Given the description of an element on the screen output the (x, y) to click on. 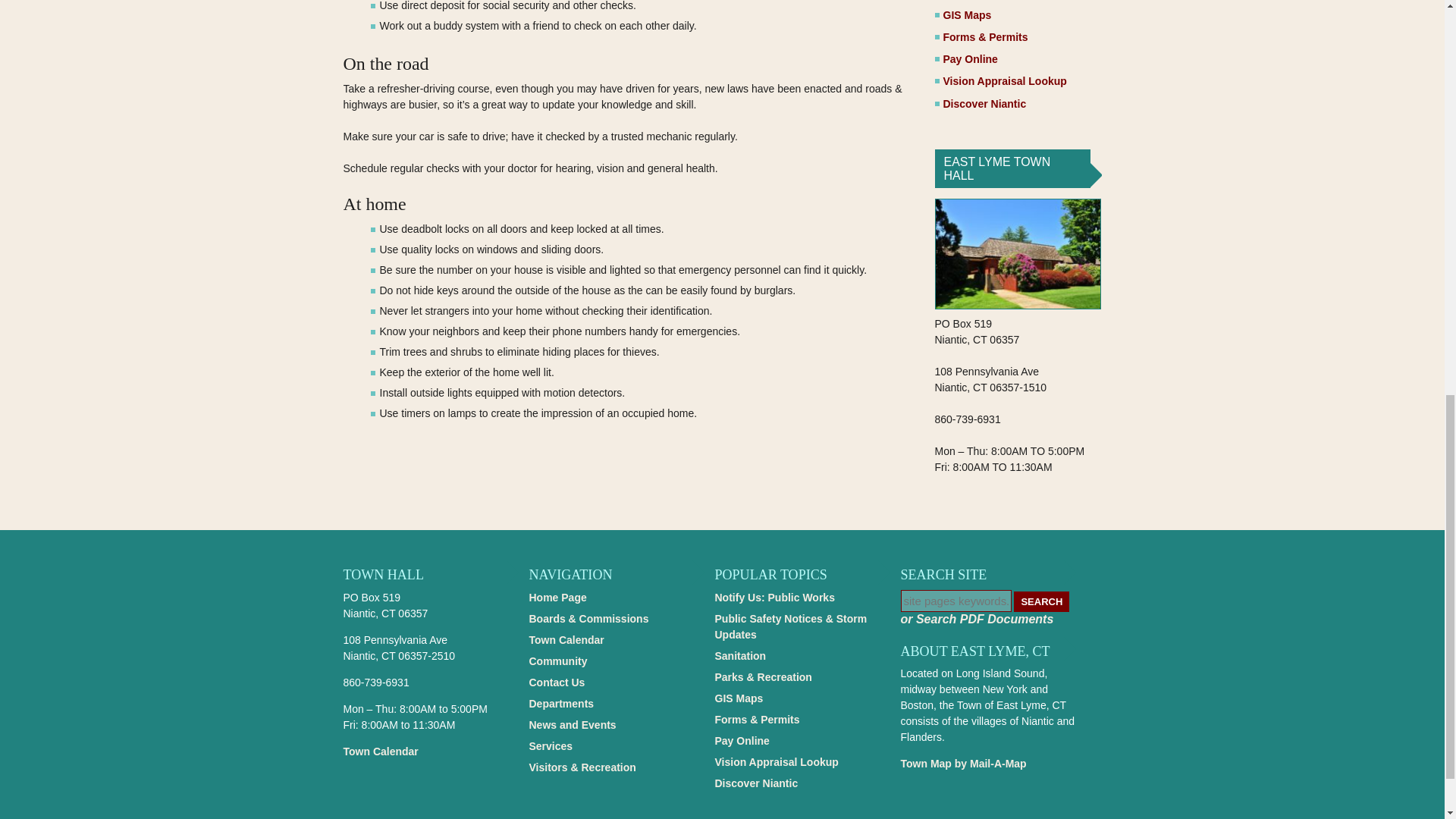
SEARCH (1040, 601)
SEARCH (1040, 601)
